Given the description of an element on the screen output the (x, y) to click on. 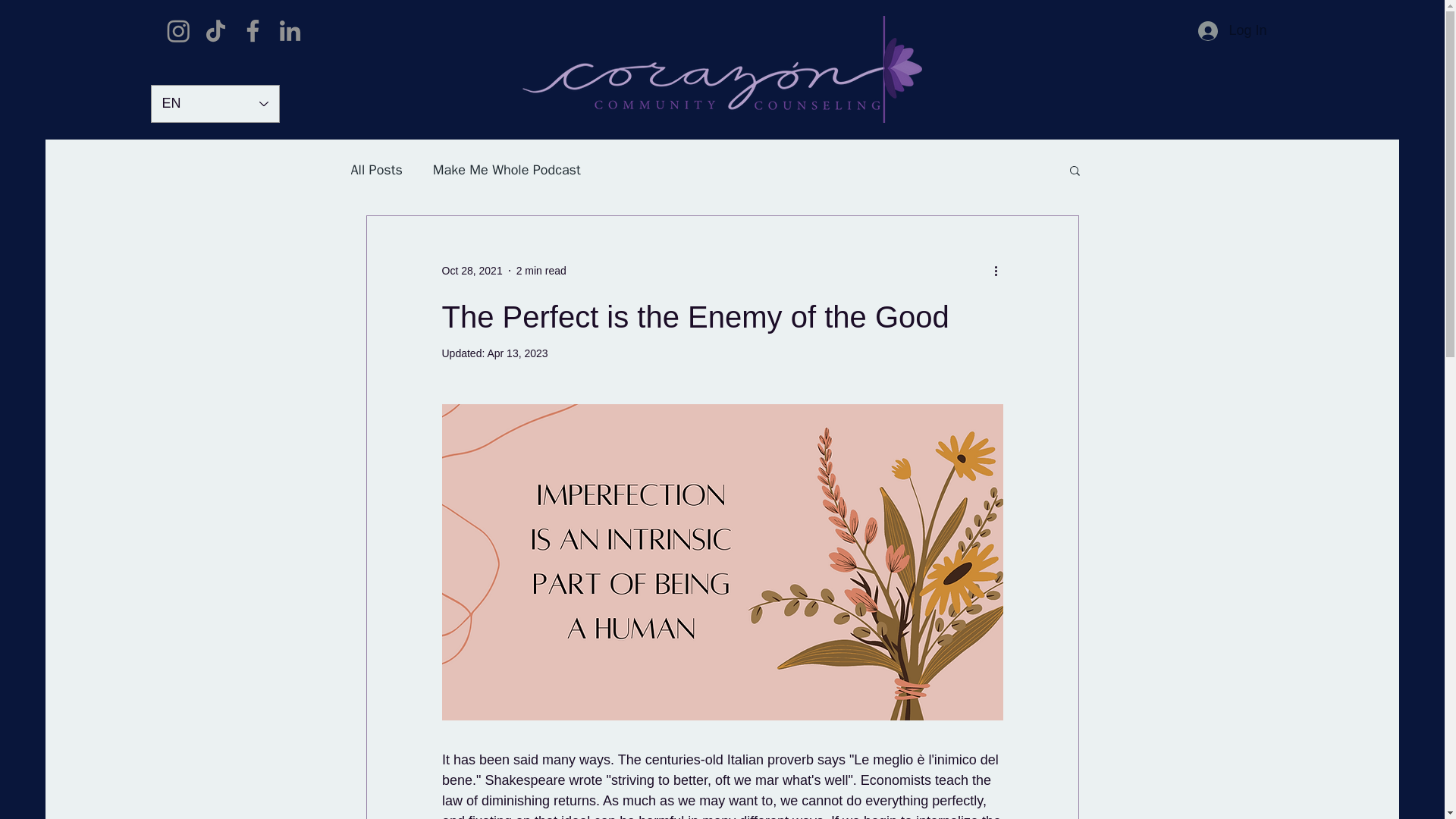
All Posts (375, 169)
2 min read (541, 269)
Make Me Whole Podcast (506, 169)
Oct 28, 2021 (471, 269)
Apr 13, 2023 (516, 353)
Log In (1232, 30)
